Given the description of an element on the screen output the (x, y) to click on. 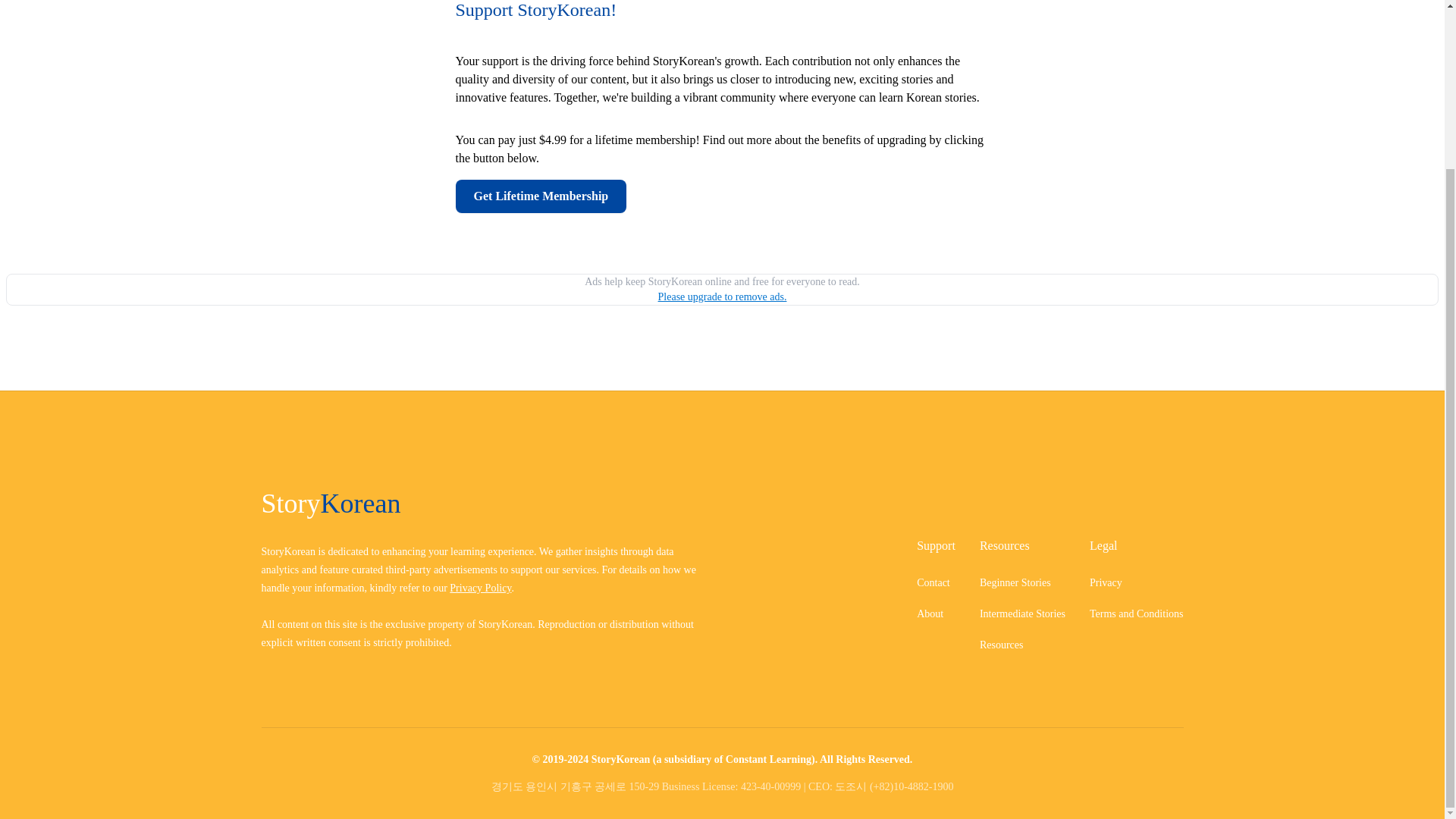
Intermediate Stories (1022, 613)
Contact (933, 582)
Get Lifetime Membership (540, 195)
About (930, 613)
Get Lifetime Membership (721, 195)
Terms and Conditions (1135, 613)
Resources (1001, 644)
Privacy (1105, 582)
Privacy Policy (480, 587)
StoryKorean (485, 503)
Please upgrade to remove ads. (722, 296)
Beginner Stories (1015, 582)
